Given the description of an element on the screen output the (x, y) to click on. 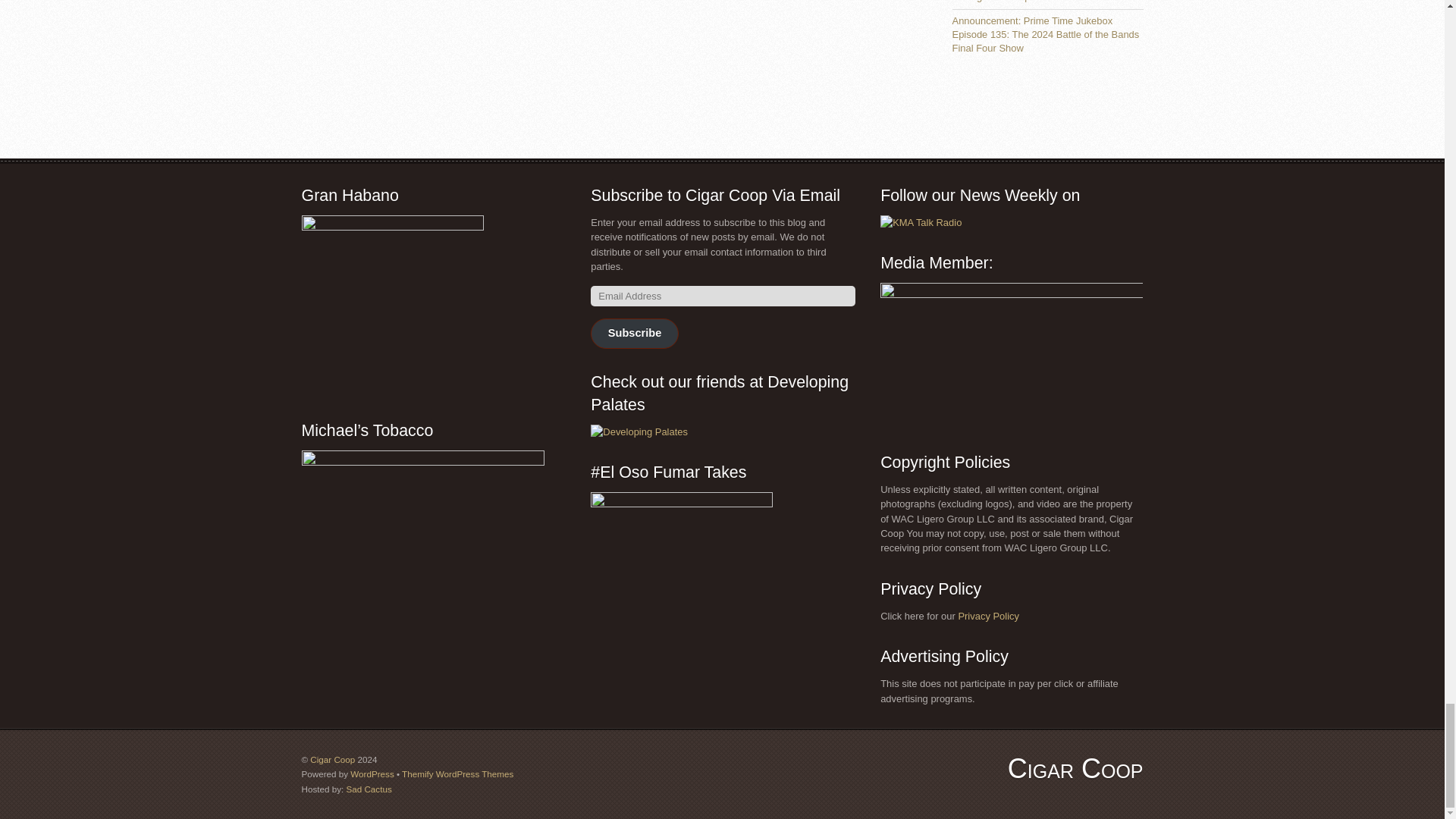
Cigar Coop (1074, 767)
